Given the description of an element on the screen output the (x, y) to click on. 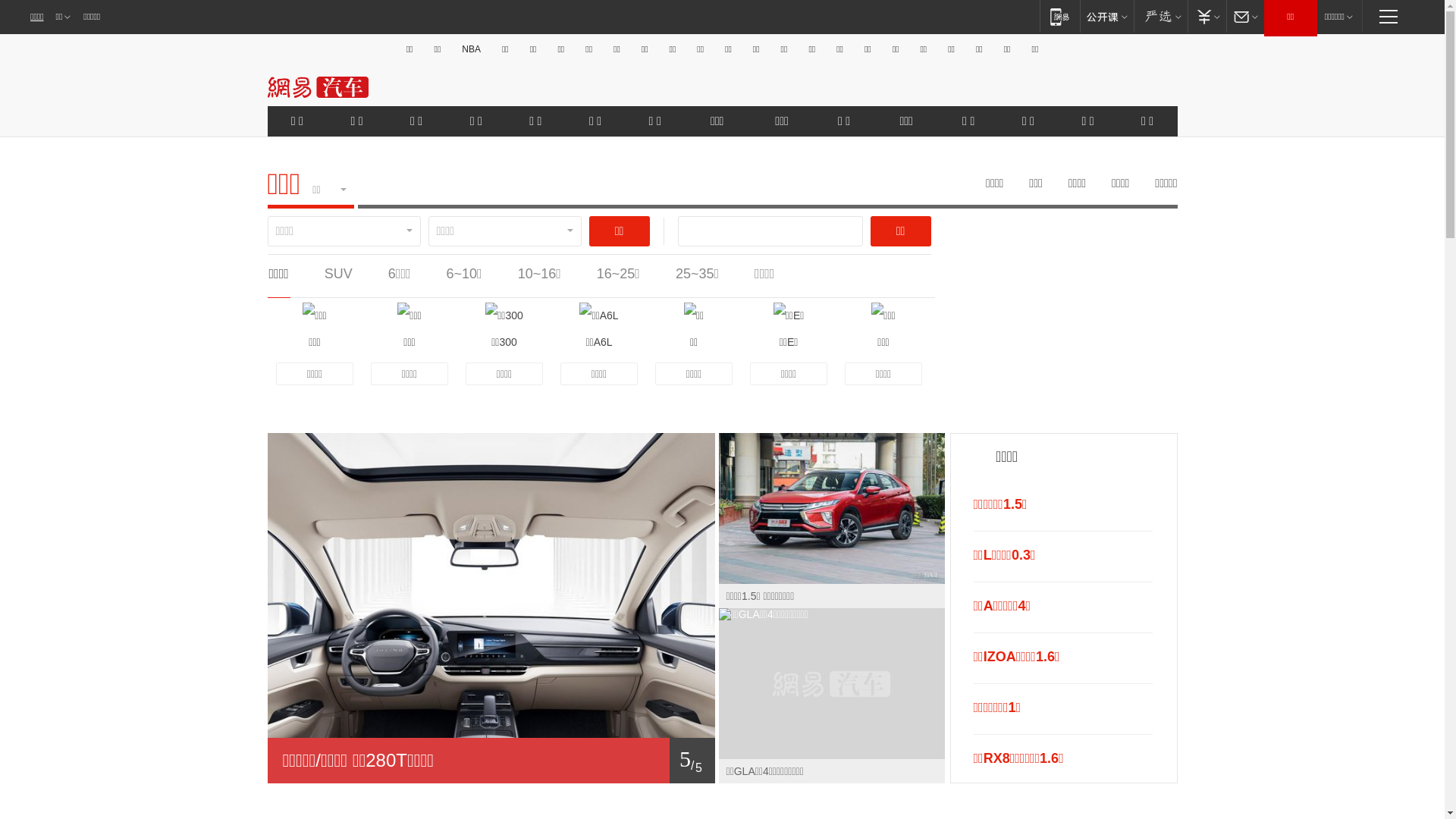
1/ 5 Element type: text (490, 760)
SUV Element type: text (338, 273)
NBA Element type: text (471, 48)
